Given the description of an element on the screen output the (x, y) to click on. 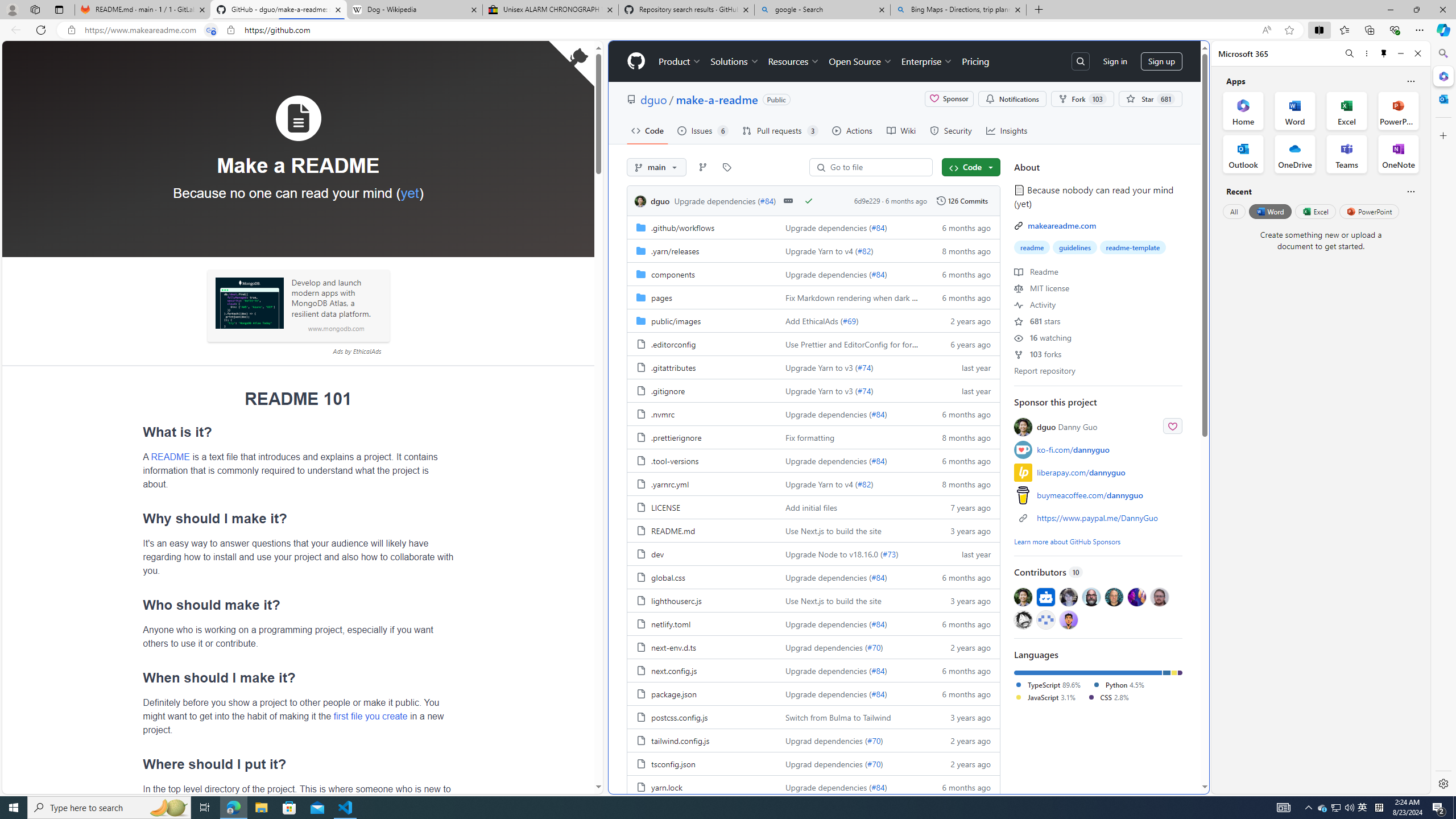
Anchor (137, 764)
16 watching (1042, 337)
@dguo (1022, 596)
#69 (849, 320)
Use Next.js to build the site (849, 599)
Word Office App (1295, 110)
postcss.config.js, (File) (678, 717)
Outlook Office App (1243, 154)
Use Prettier and EditorConfig for formatting (861, 343)
Home Office App (1243, 110)
#74 (863, 390)
Sponsored: MongoDB (249, 302)
AutomationID: folder-row-3 (813, 296)
